Given the description of an element on the screen output the (x, y) to click on. 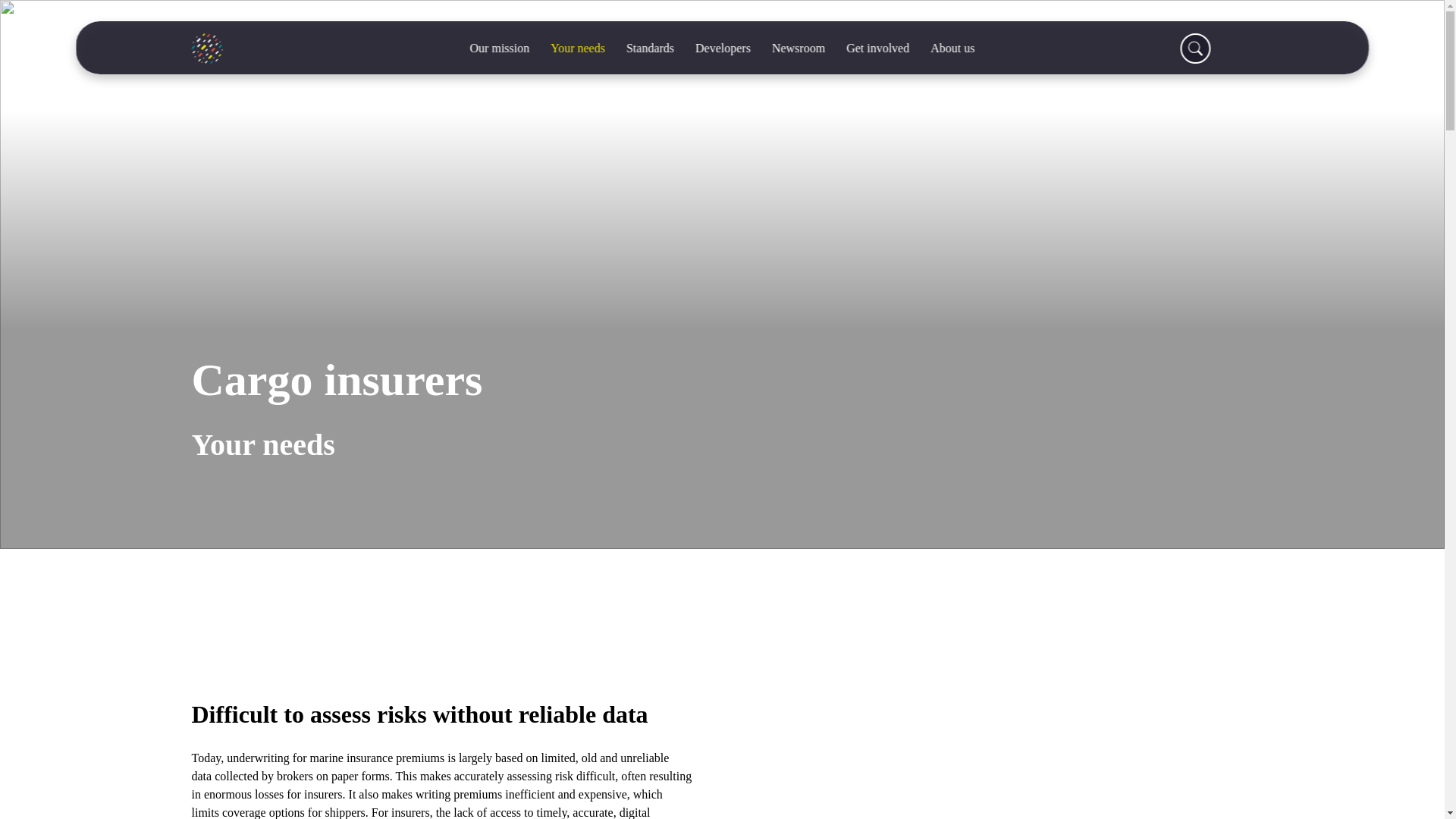
Developers (722, 48)
Standards (649, 48)
Newsroom (798, 48)
About us (952, 48)
Get involved (877, 48)
Your needs (577, 48)
Our mission (500, 48)
